Given the description of an element on the screen output the (x, y) to click on. 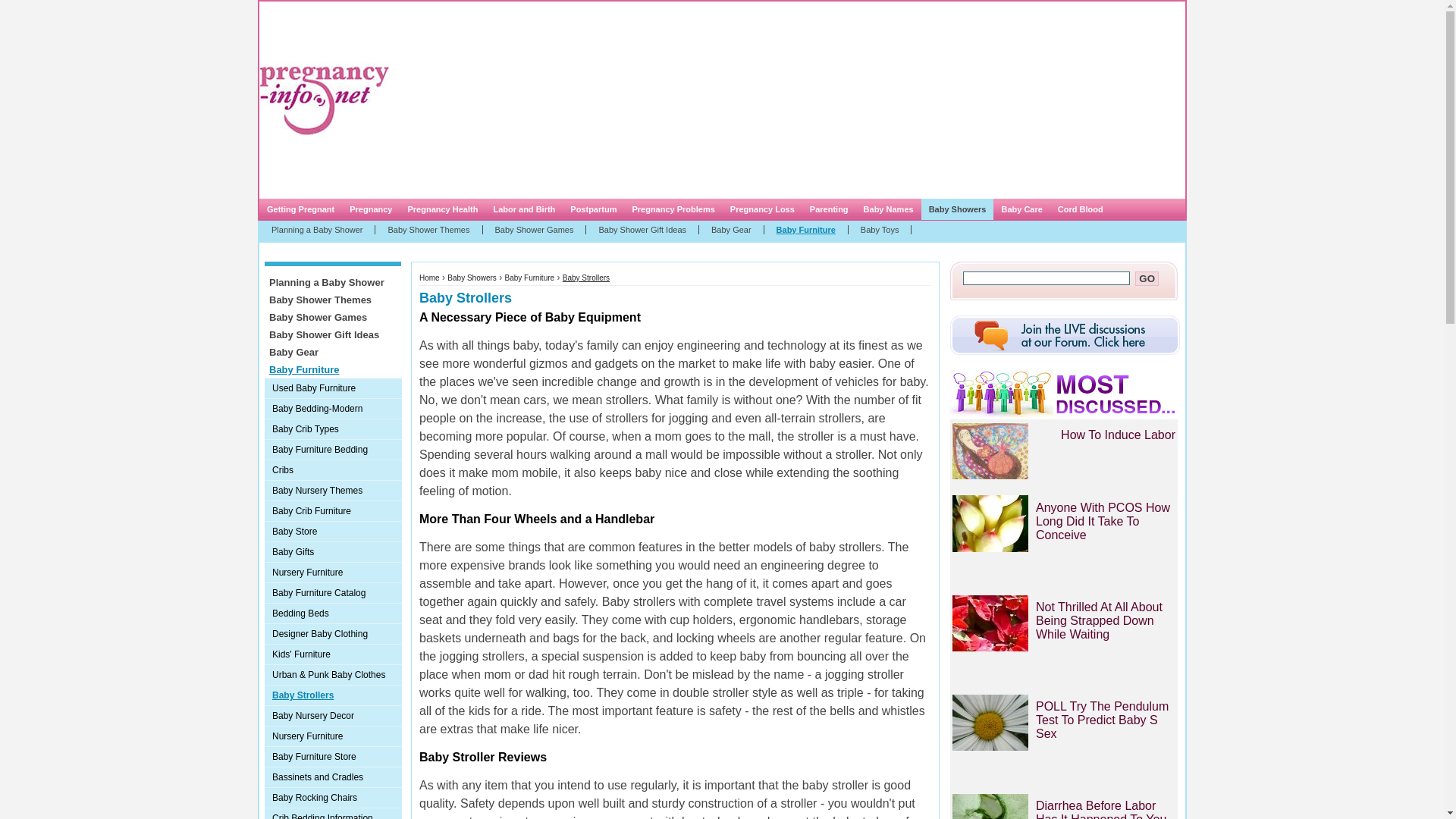
Baby Showers (957, 209)
Pregnancy (370, 209)
Baby Care (1020, 209)
Pregnancy Loss (762, 209)
Baby Strollers (586, 277)
Baby Gear (331, 352)
Baby Shower Themes (428, 229)
Pregnancy Health (441, 209)
Baby Furniture (529, 277)
Used Baby Furniture (332, 388)
Baby Showers (471, 277)
Advertisement (718, 99)
Pregnancy Problems (673, 209)
Pregnancy Info HOME (350, 38)
Baby Furniture (806, 229)
